Given the description of an element on the screen output the (x, y) to click on. 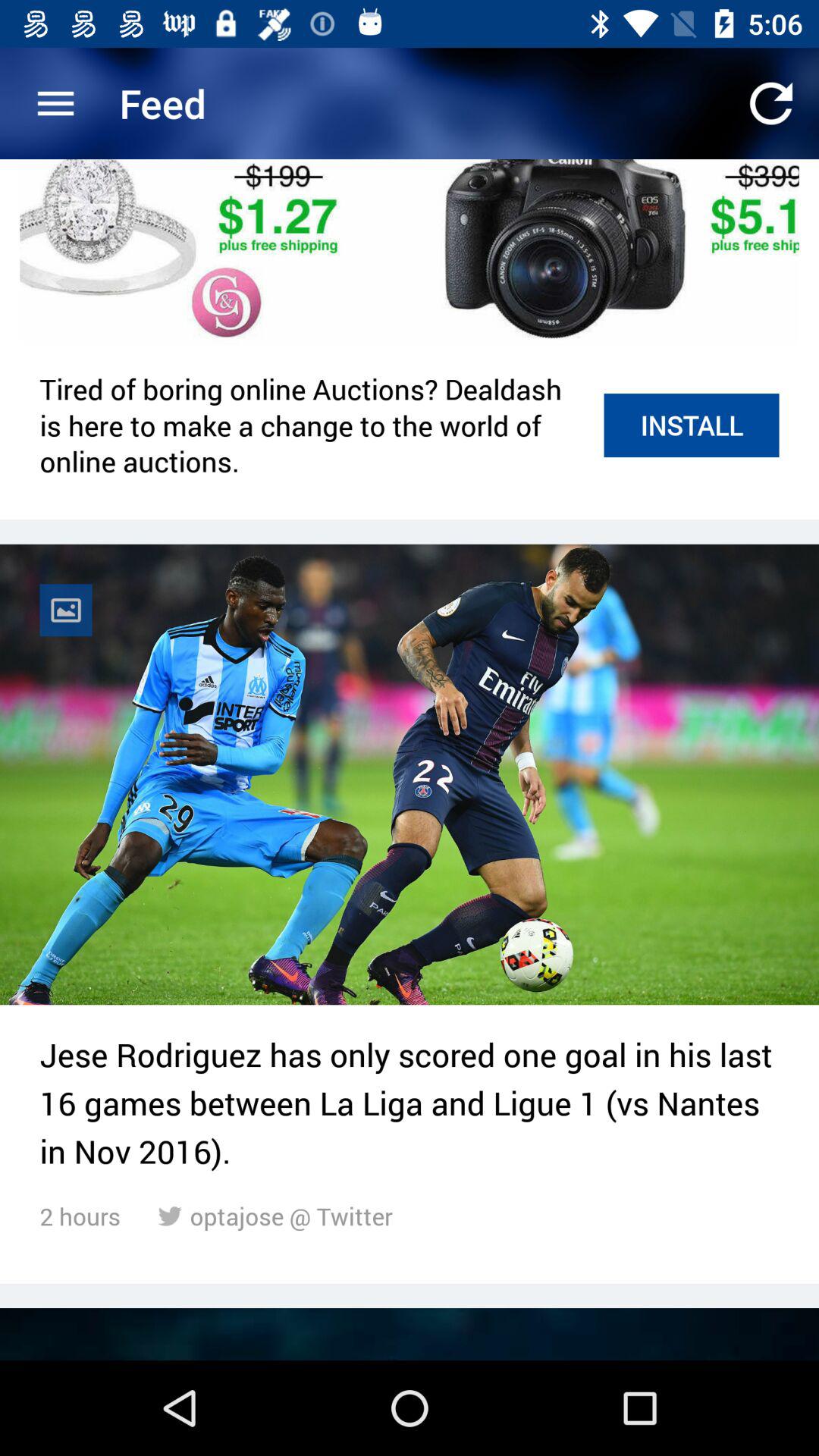
launch icon next to install item (313, 425)
